Given the description of an element on the screen output the (x, y) to click on. 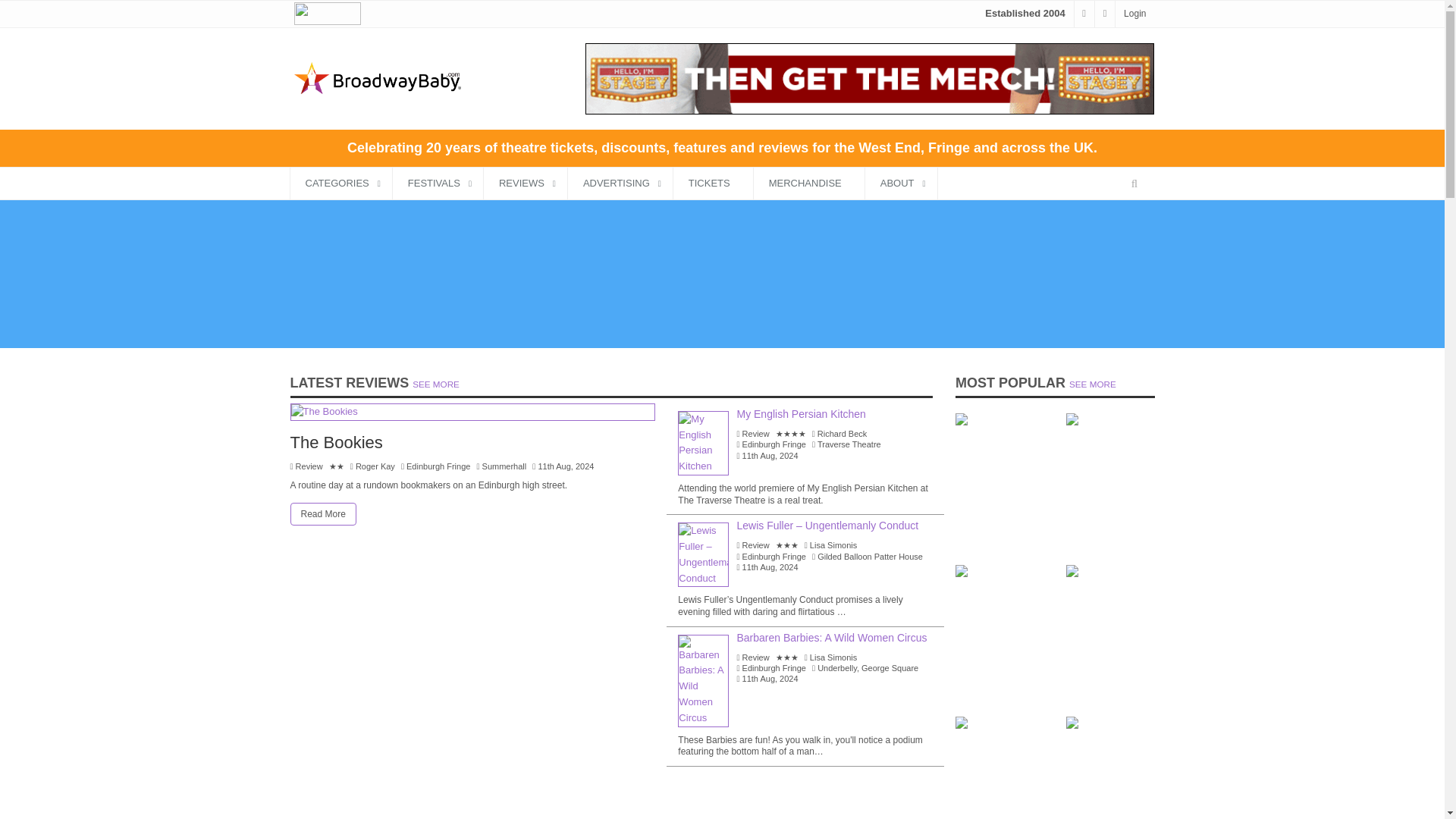
Login (1134, 13)
CATEGORIES (340, 183)
FESTIVALS (438, 183)
